Given the description of an element on the screen output the (x, y) to click on. 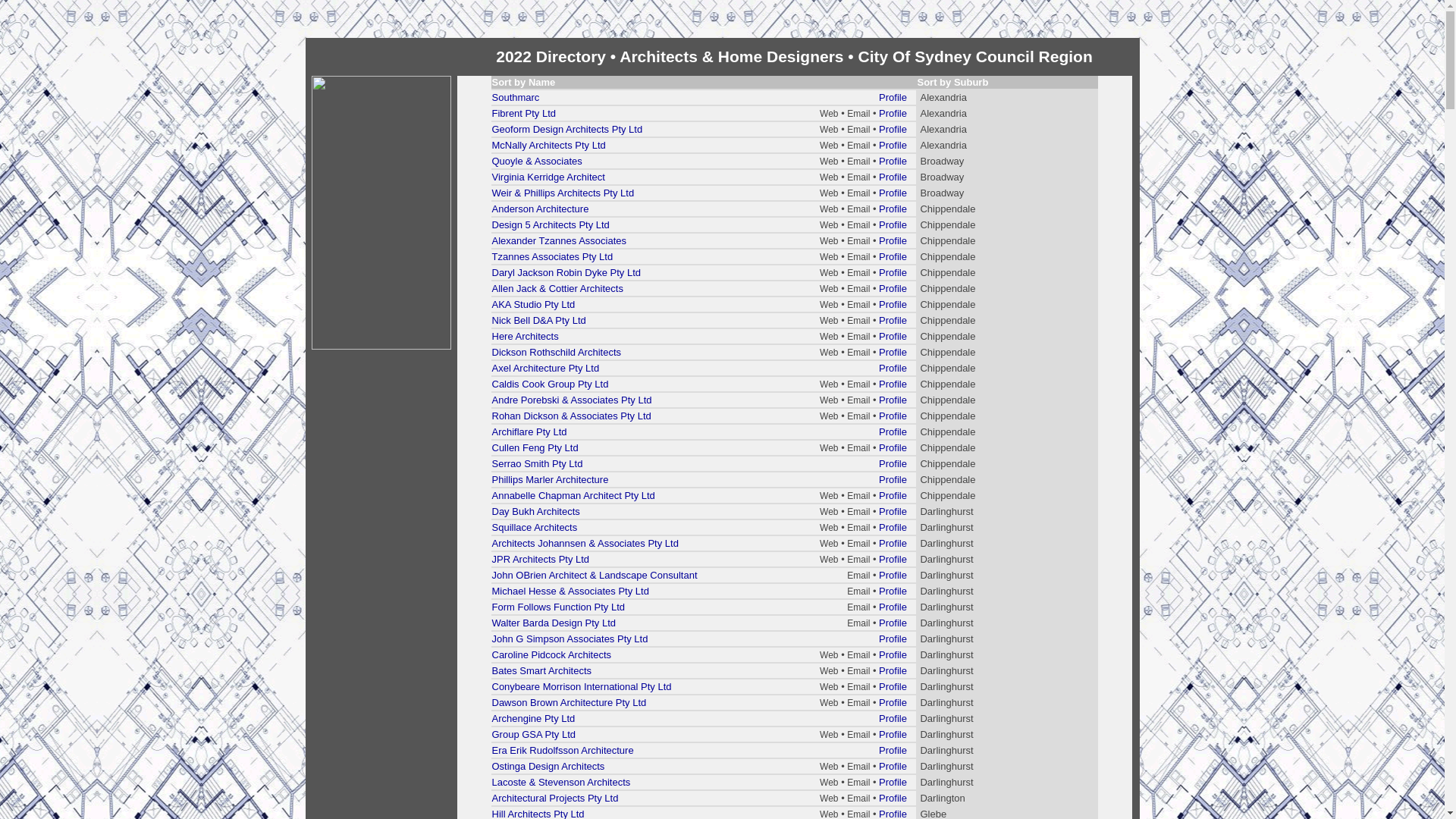
Sort by Name Element type: text (523, 81)
Serrao Smith Pty Ltd Profile Element type: text (703, 463)
Alexandria Element type: text (942, 144)
Darlinghurst Element type: text (945, 590)
Chippendale Element type: text (947, 415)
Chippendale Element type: text (947, 351)
Chippendale Element type: text (947, 272)
Broadway Element type: text (941, 192)
Chippendale Element type: text (947, 383)
Chippendale Element type: text (947, 240)
Chippendale Element type: text (947, 479)
Chippendale Element type: text (947, 224)
Era Erik Rudolfsson Architecture Profile Element type: text (703, 749)
Chippendale Element type: text (947, 256)
Darlinghurst Element type: text (945, 527)
Chippendale Element type: text (947, 304)
Chippendale Element type: text (947, 447)
Darlinghurst Element type: text (945, 702)
Chippendale Element type: text (947, 208)
Archengine Pty Ltd Profile Element type: text (703, 718)
Darlinghurst Element type: text (945, 686)
Darlinghurst Element type: text (945, 574)
Darlinghurst Element type: text (945, 718)
Archiflare Pty Ltd Profile Element type: text (703, 431)
Chippendale Element type: text (947, 320)
Chippendale Element type: text (947, 463)
Darlinghurst Element type: text (945, 781)
Darlinghurst Element type: text (945, 654)
Axel Architecture Pty Ltd Profile Element type: text (703, 367)
Chippendale Element type: text (947, 336)
Darlington Element type: text (941, 797)
Alexandria Element type: text (942, 97)
Phillips Marler Architecture Profile Element type: text (703, 479)
Darlinghurst Element type: text (945, 670)
Darlinghurst Element type: text (945, 750)
Sort by Suburb Element type: text (952, 81)
Chippendale Element type: text (947, 431)
Chippendale Element type: text (947, 367)
Darlinghurst Element type: text (945, 734)
Broadway Element type: text (941, 160)
Alexandria Element type: text (942, 113)
Darlinghurst Element type: text (945, 765)
Darlinghurst Element type: text (945, 543)
Chippendale Element type: text (947, 288)
John G Simpson Associates Pty Ltd Profile Element type: text (703, 638)
Chippendale Element type: text (947, 495)
Darlinghurst Element type: text (945, 606)
Chippendale Element type: text (947, 399)
Alexandria Element type: text (942, 128)
Broadway Element type: text (941, 176)
Darlinghurst Element type: text (945, 638)
Darlinghurst Element type: text (945, 622)
Darlinghurst Element type: text (945, 511)
Southmarc Profile Element type: text (703, 97)
Darlinghurst Element type: text (945, 558)
